Given the description of an element on the screen output the (x, y) to click on. 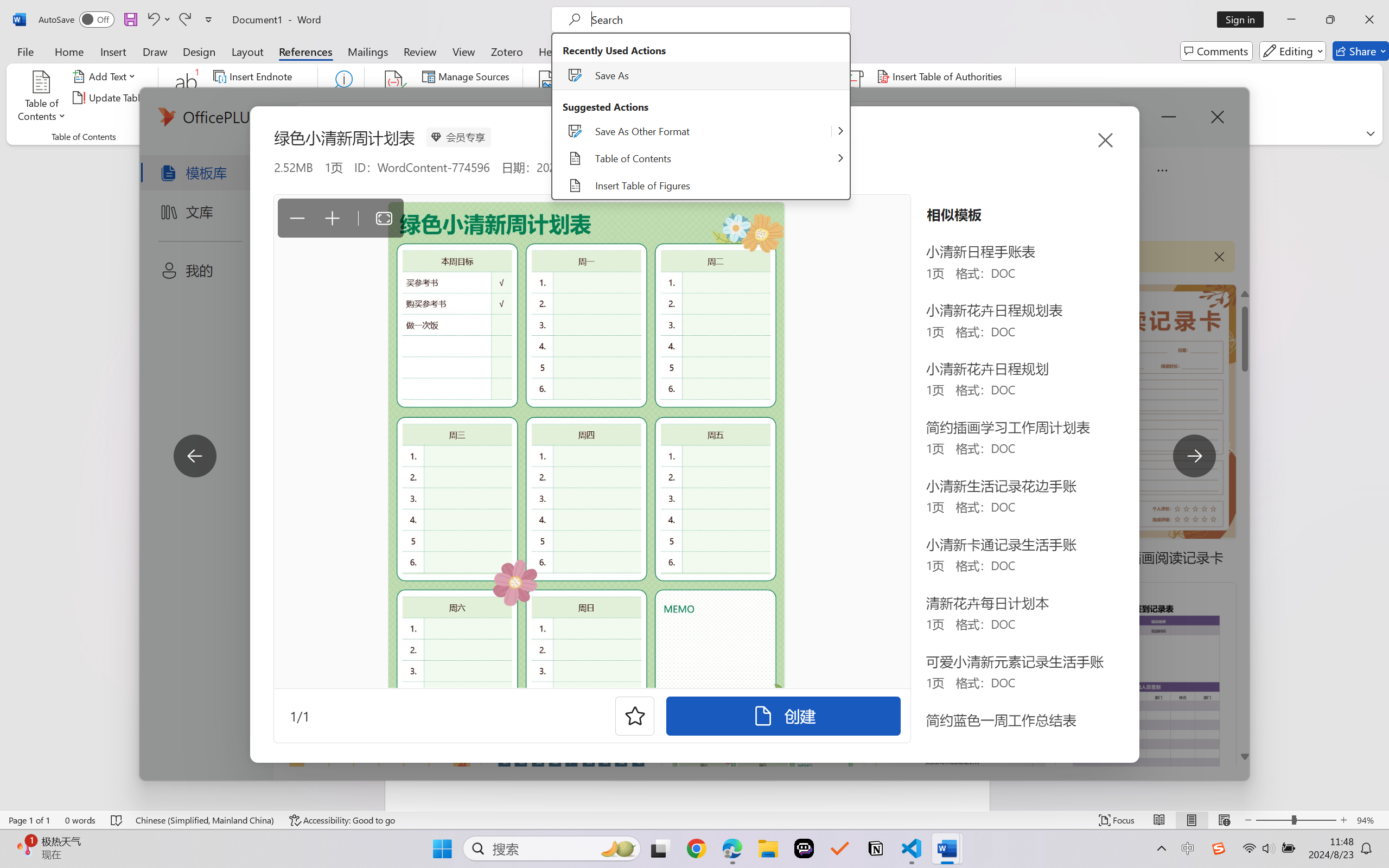
Save As Other Format (701, 131)
Class: NetUITWMenuContainer (701, 115)
Insert Index... (775, 75)
Sign in (1244, 19)
